Given the description of an element on the screen output the (x, y) to click on. 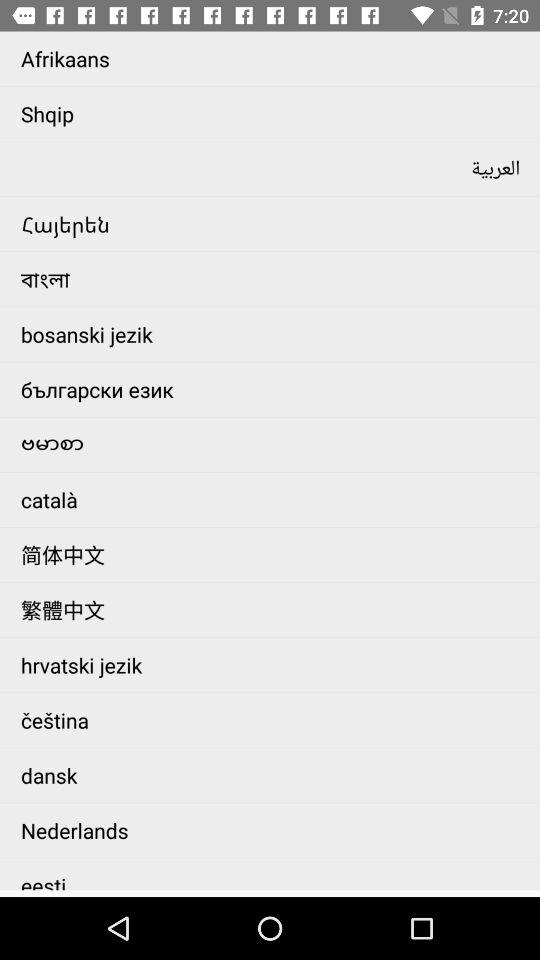
select the item above bosanski jezik (275, 278)
